Given the description of an element on the screen output the (x, y) to click on. 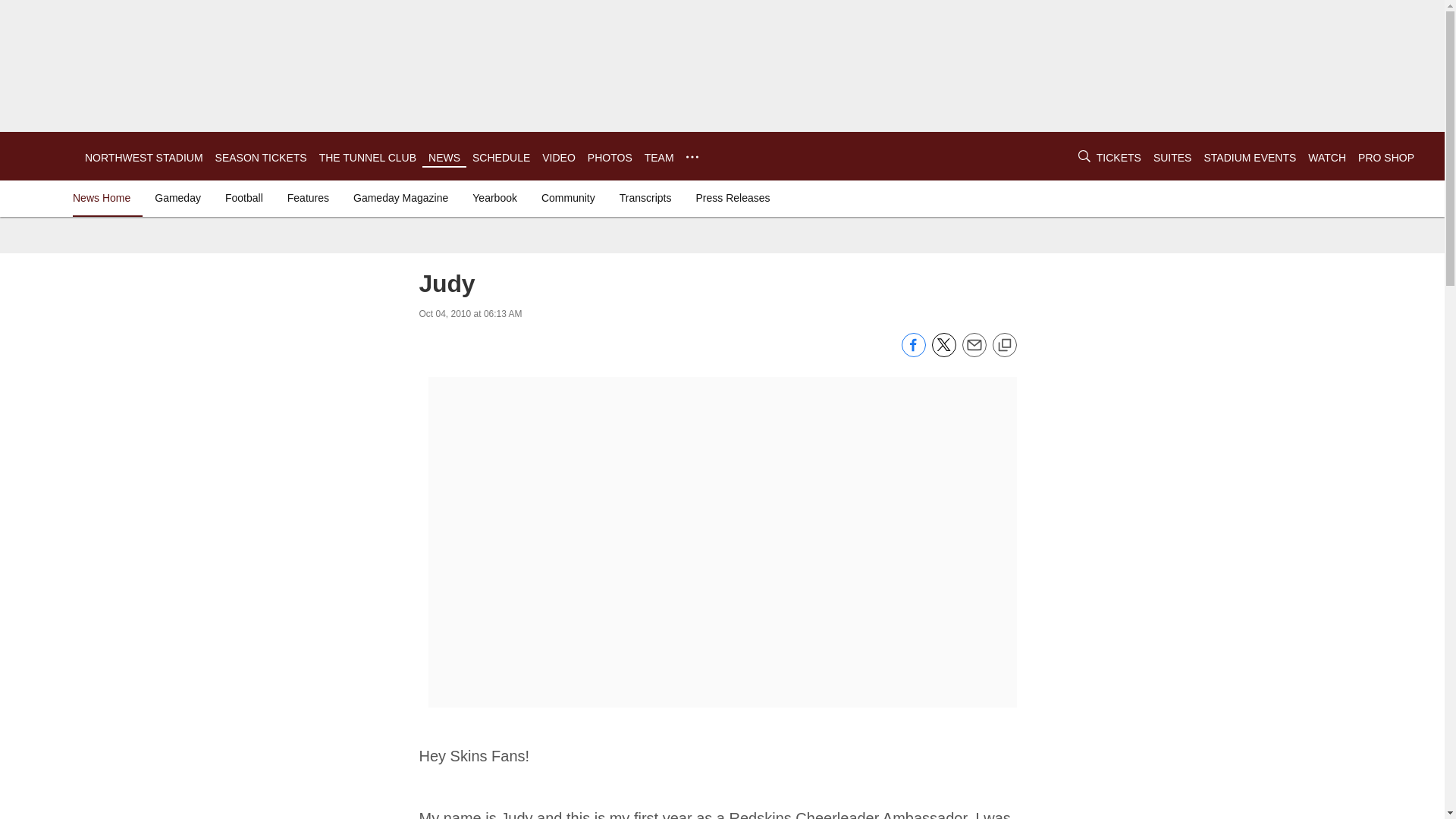
Transcripts (645, 197)
Features (307, 197)
TEAM (659, 157)
SCHEDULE (500, 157)
News Home (104, 197)
SCHEDULE (500, 157)
Gameday (177, 197)
NORTHWEST STADIUM (143, 157)
TICKETS (1118, 157)
Press Releases (732, 197)
